Given the description of an element on the screen output the (x, y) to click on. 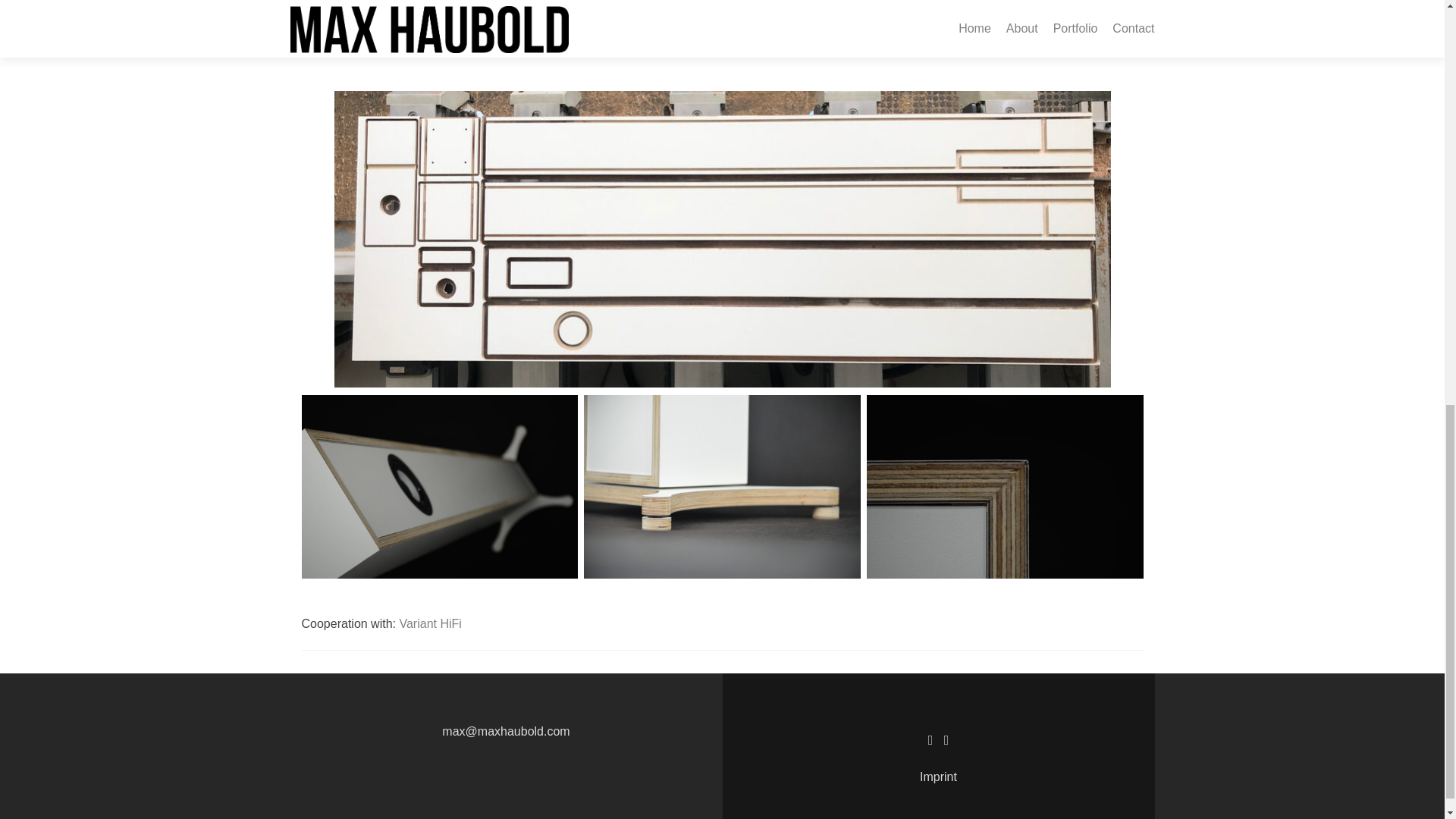
Imprint (938, 776)
Instagram Link (946, 739)
Variant HiFi (429, 623)
LinkedIn-Link (930, 739)
